Given the description of an element on the screen output the (x, y) to click on. 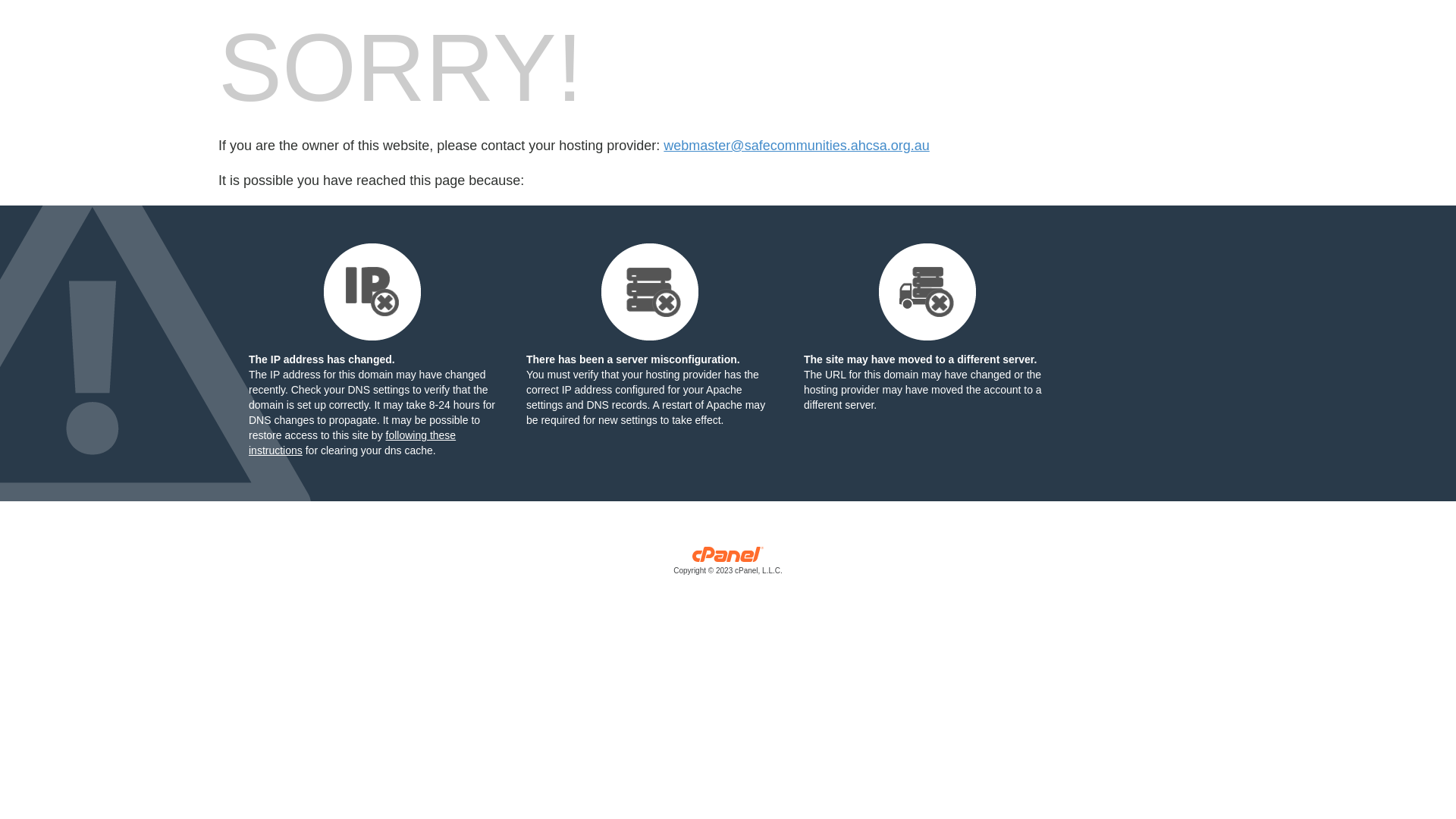
webmaster@safecommunities.ahcsa.org.au Element type: text (795, 145)
following these instructions Element type: text (351, 442)
